Given the description of an element on the screen output the (x, y) to click on. 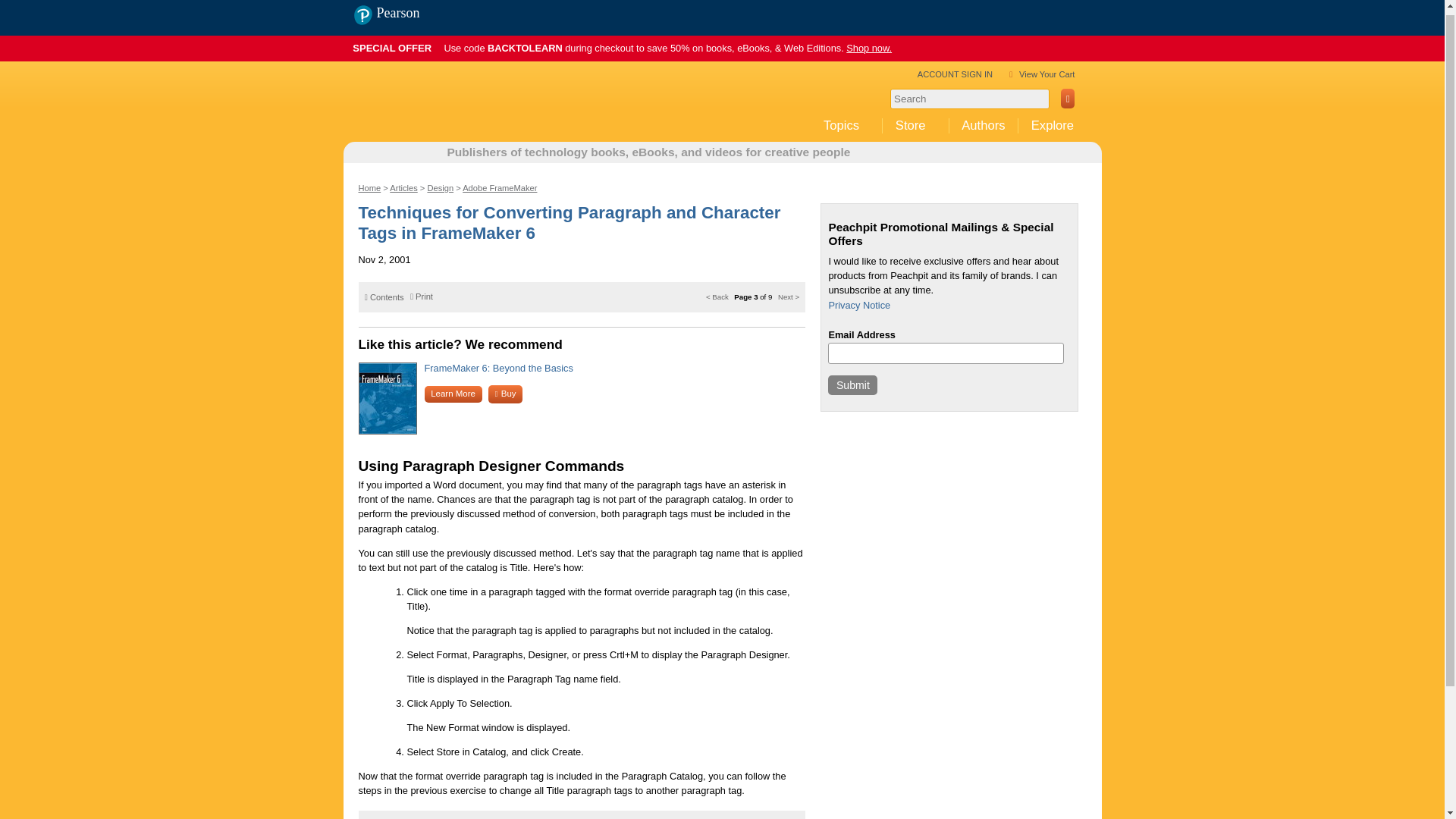
FrameMaker 6: Beyond the Basics (499, 367)
Home (369, 187)
Adobe FrameMaker (500, 187)
Shop now. (868, 48)
Privacy Notice (858, 305)
Design (439, 187)
Submit (852, 384)
Articles (403, 187)
View Your Cart (1046, 73)
Home (472, 118)
